Given the description of an element on the screen output the (x, y) to click on. 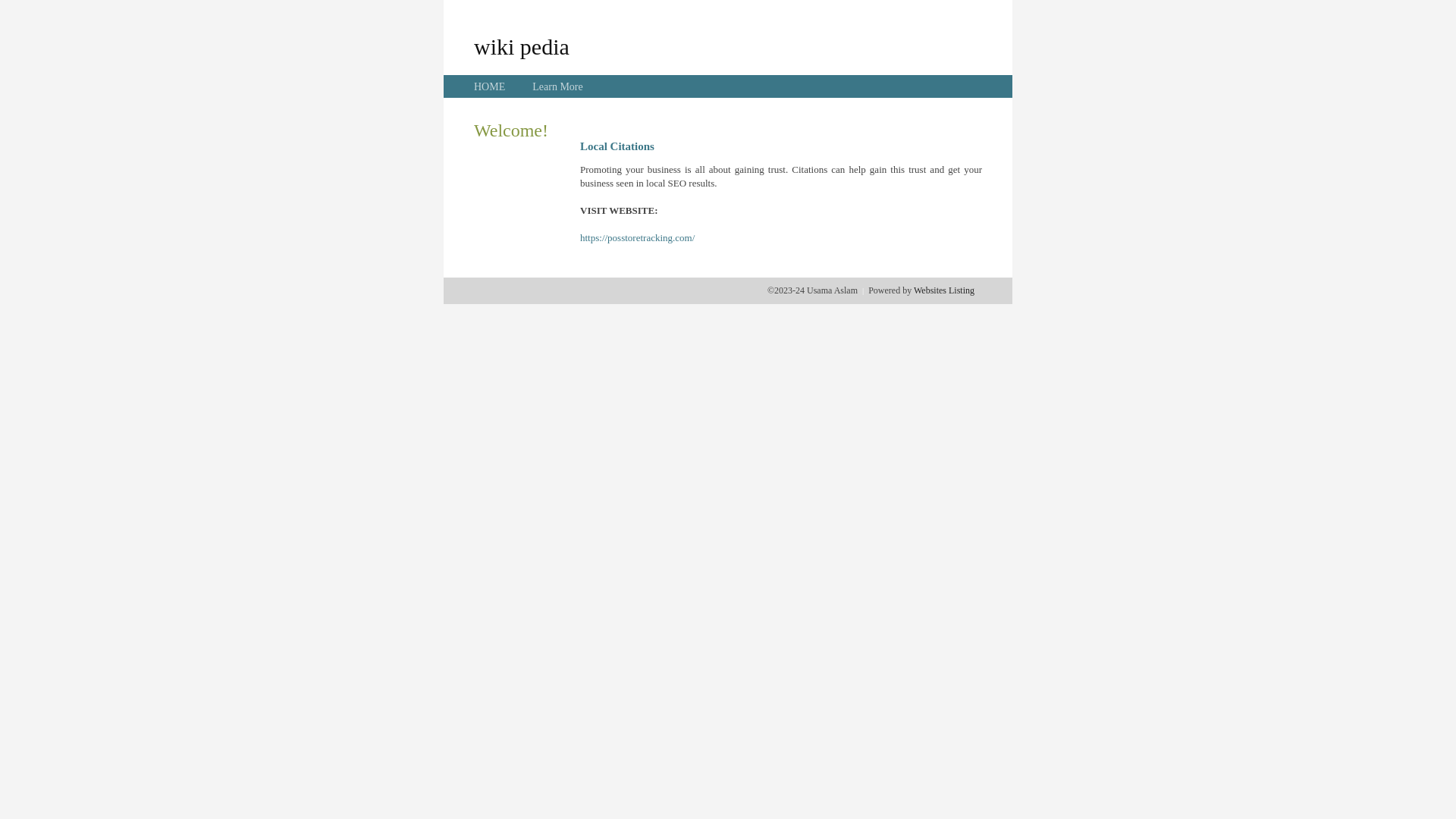
https://posstoretracking.com/ Element type: text (637, 237)
Learn More Element type: text (557, 86)
HOME Element type: text (489, 86)
wiki pedia Element type: text (521, 46)
Websites Listing Element type: text (943, 290)
